Given the description of an element on the screen output the (x, y) to click on. 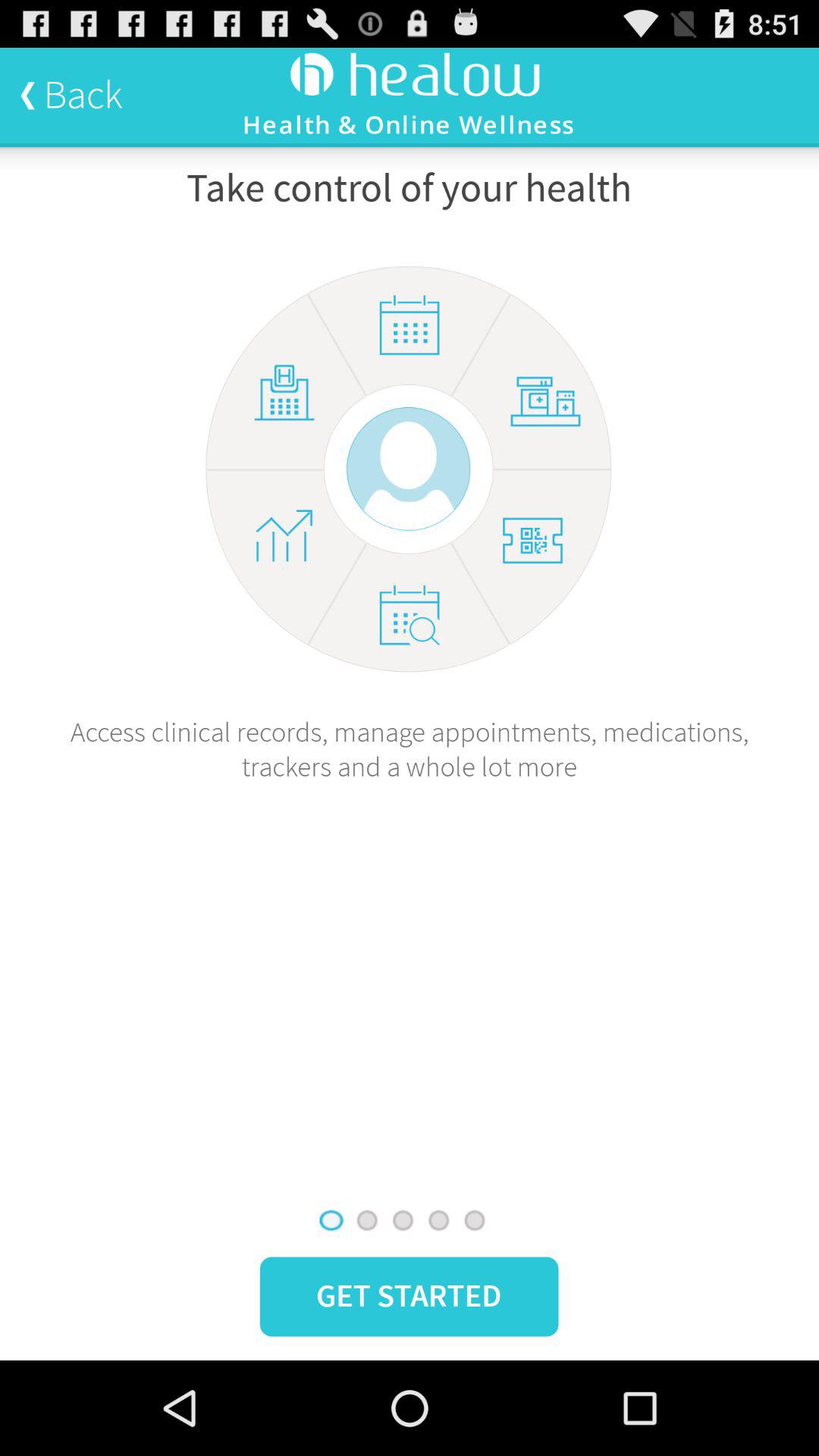
scroll to the back item (70, 95)
